Given the description of an element on the screen output the (x, y) to click on. 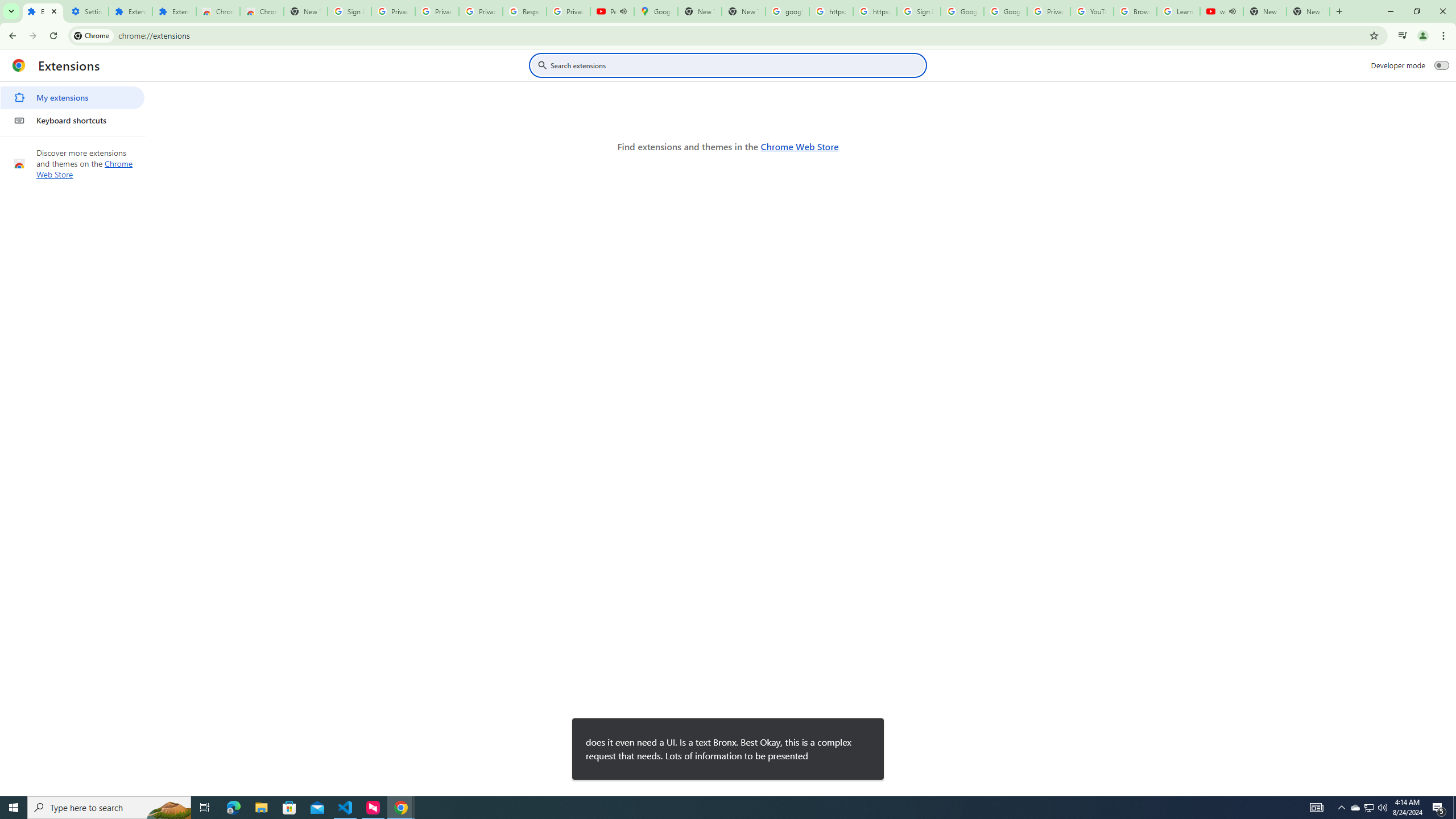
Sign in - Google Accounts (349, 11)
Extensions (130, 11)
Search extensions (735, 65)
Chrome Web Store (217, 11)
Chrome Web Store (799, 146)
Extensions (173, 11)
My extensions (72, 97)
YouTube (1091, 11)
